Given the description of an element on the screen output the (x, y) to click on. 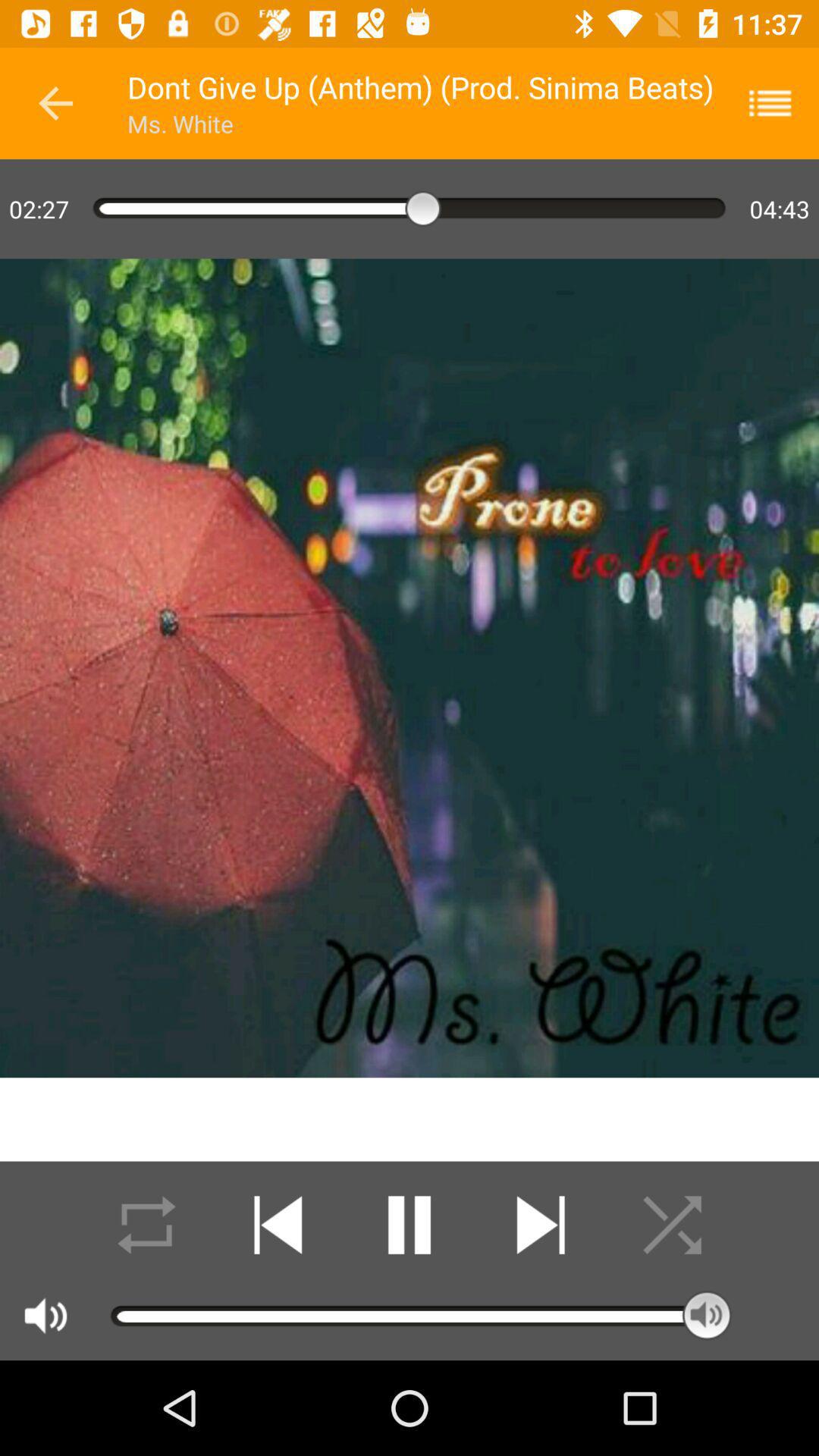
open item next to dont give up icon (55, 103)
